Given the description of an element on the screen output the (x, y) to click on. 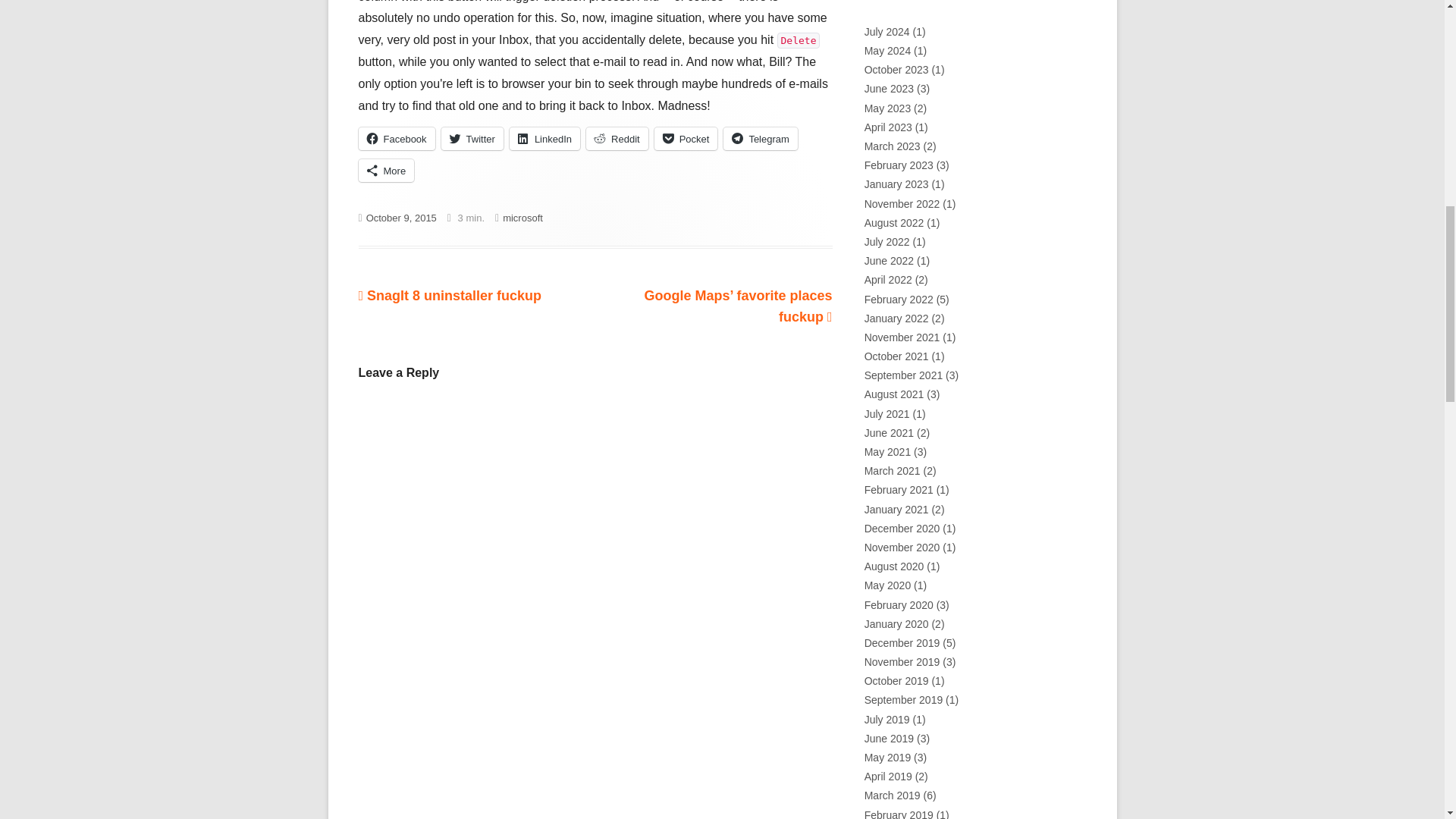
Click to share on Telegram (759, 138)
Click to share on Reddit (616, 138)
Telegram (759, 138)
Click to share on Twitter (472, 138)
Pocket (685, 138)
Twitter (472, 138)
Click to share on Facebook (395, 138)
microsoft (522, 217)
Click to share on Pocket (449, 295)
